Given the description of an element on the screen output the (x, y) to click on. 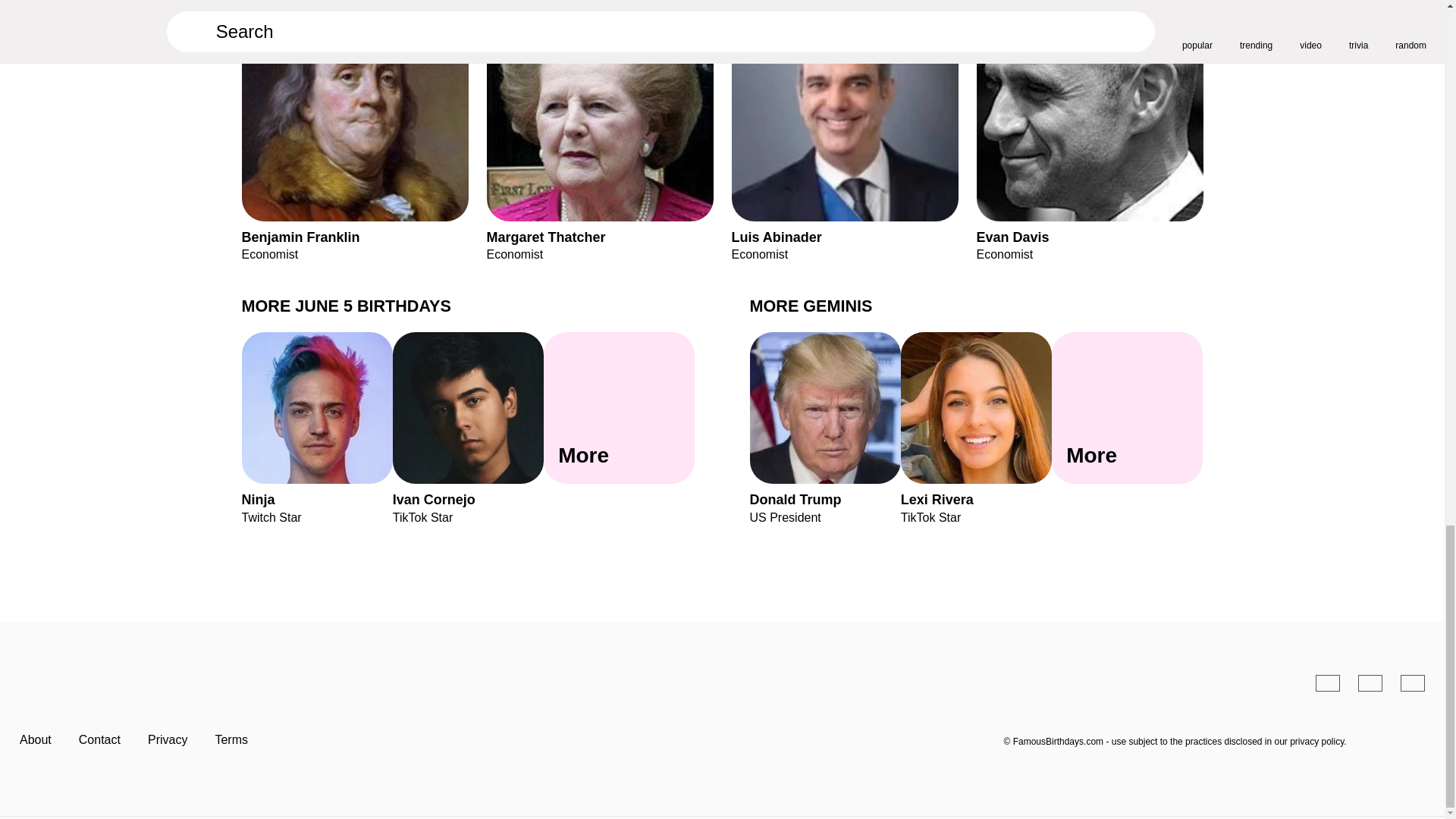
French (1412, 682)
Portuguese (1369, 682)
MORE JUNE 5 BIRTHDAYS (345, 305)
MORE GEMINIS (810, 305)
More (1126, 407)
Spanish (1327, 682)
More (618, 407)
